Given the description of an element on the screen output the (x, y) to click on. 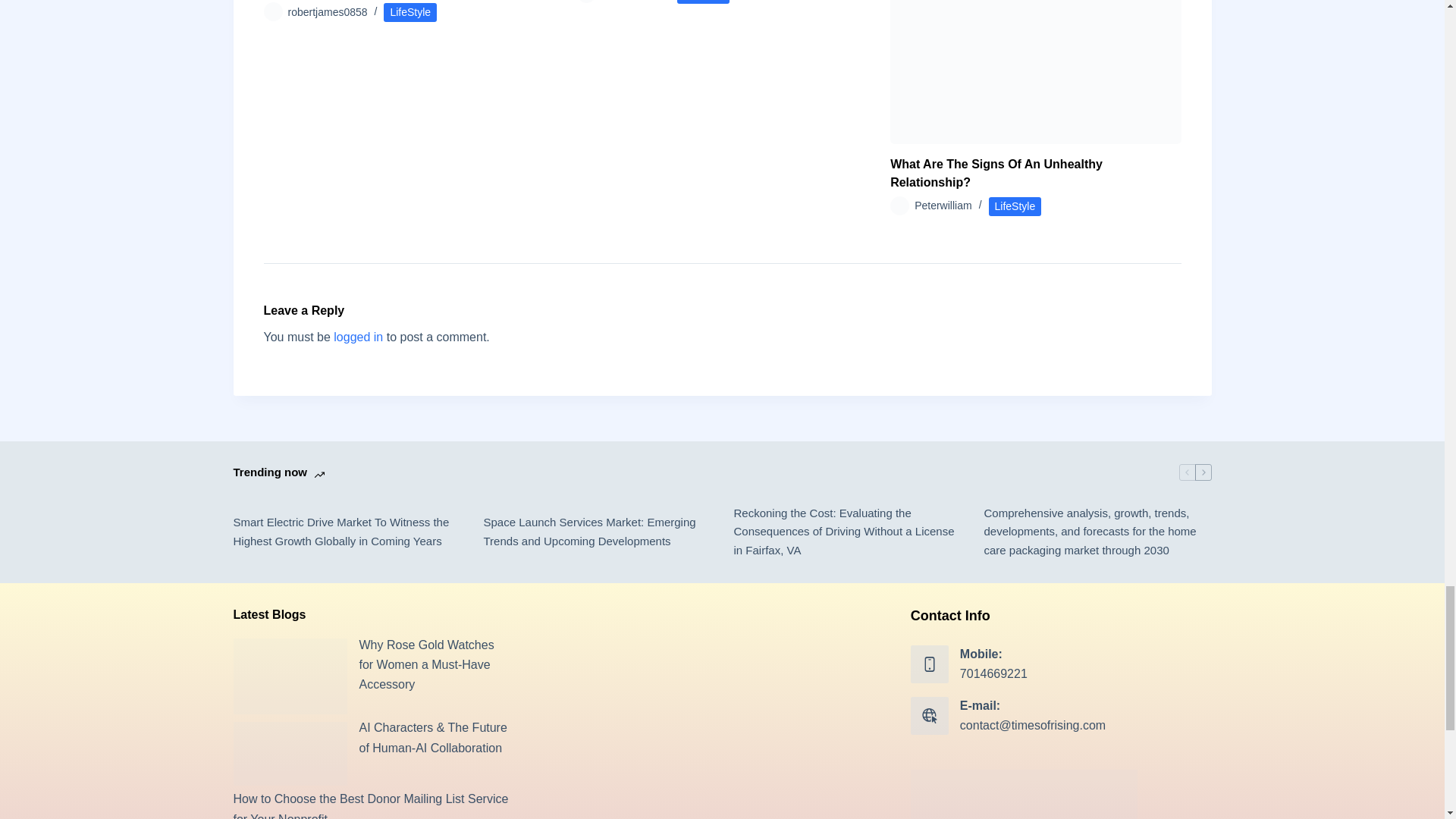
Posts by robertjames0858 (328, 11)
Why Rose Gold Watches for Women a Must-Have Accessory 8 (289, 676)
Posts by Peterwilliam (942, 205)
